Given the description of an element on the screen output the (x, y) to click on. 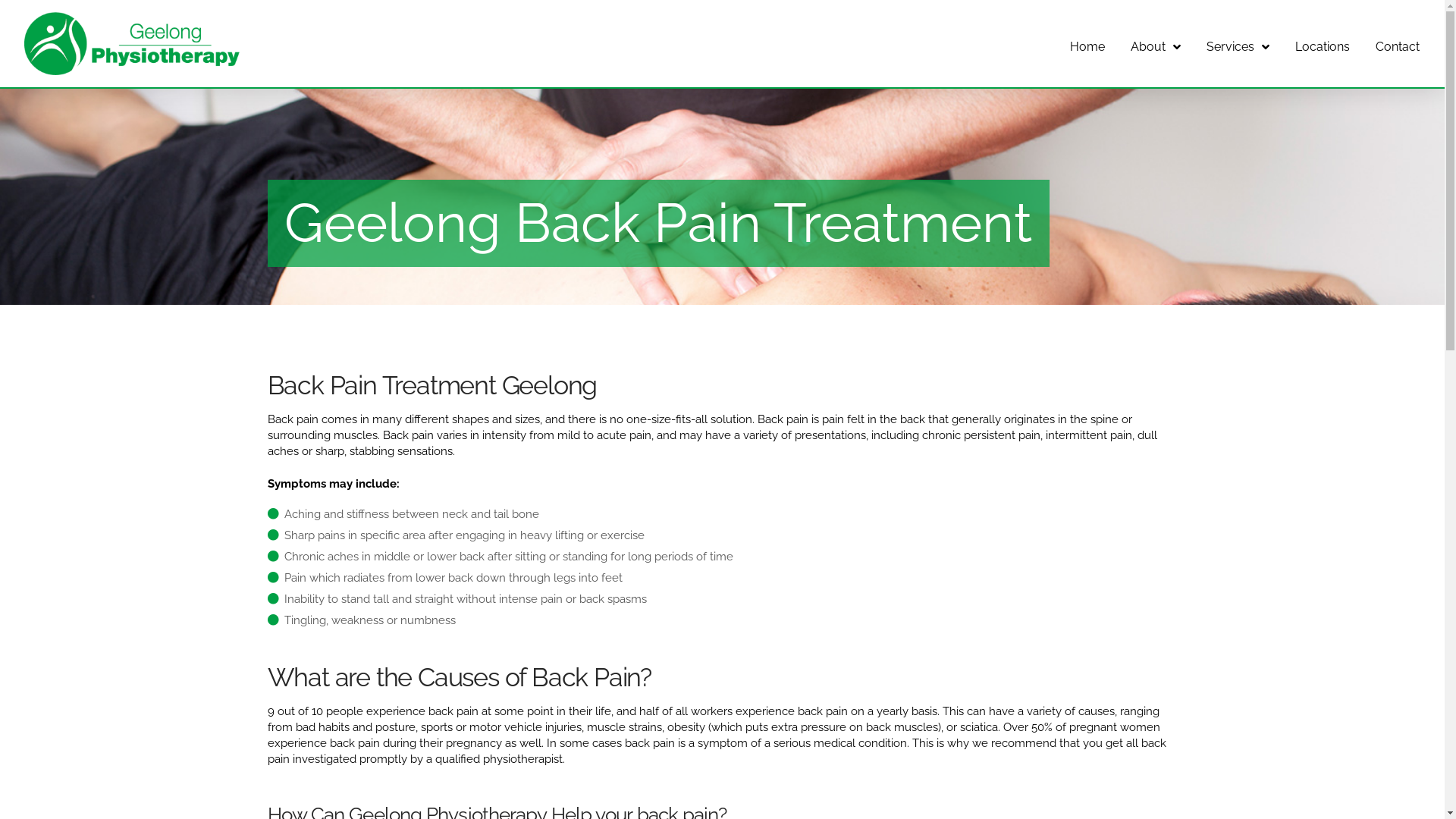
Home Element type: text (1087, 43)
Services Element type: text (1237, 43)
Contact Element type: text (1397, 43)
About Element type: text (1155, 43)
Locations Element type: text (1322, 43)
